Given the description of an element on the screen output the (x, y) to click on. 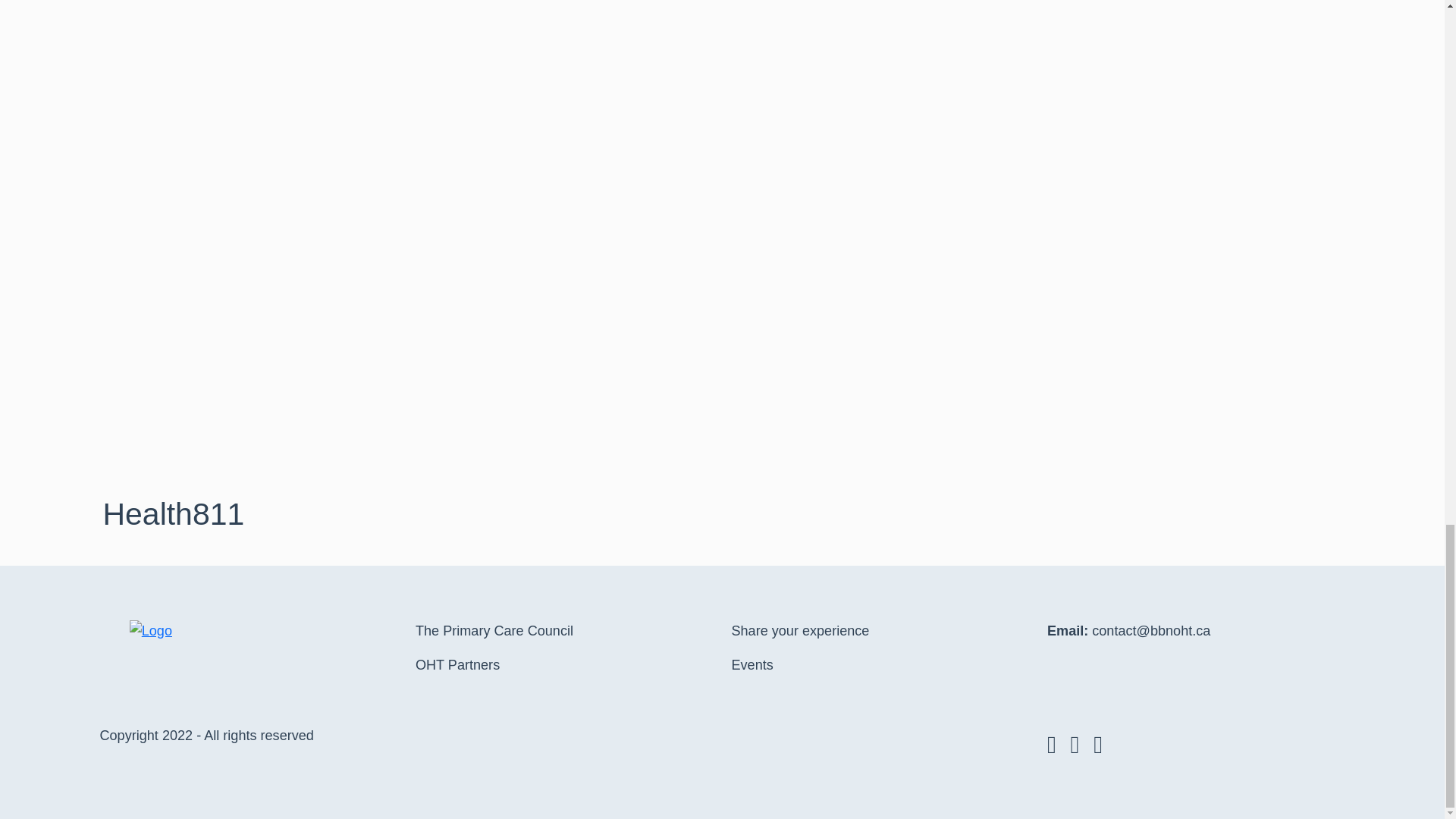
Share your experience (799, 631)
The Primary Care Council (493, 631)
OHT Partners (456, 665)
Events (751, 665)
